Given the description of an element on the screen output the (x, y) to click on. 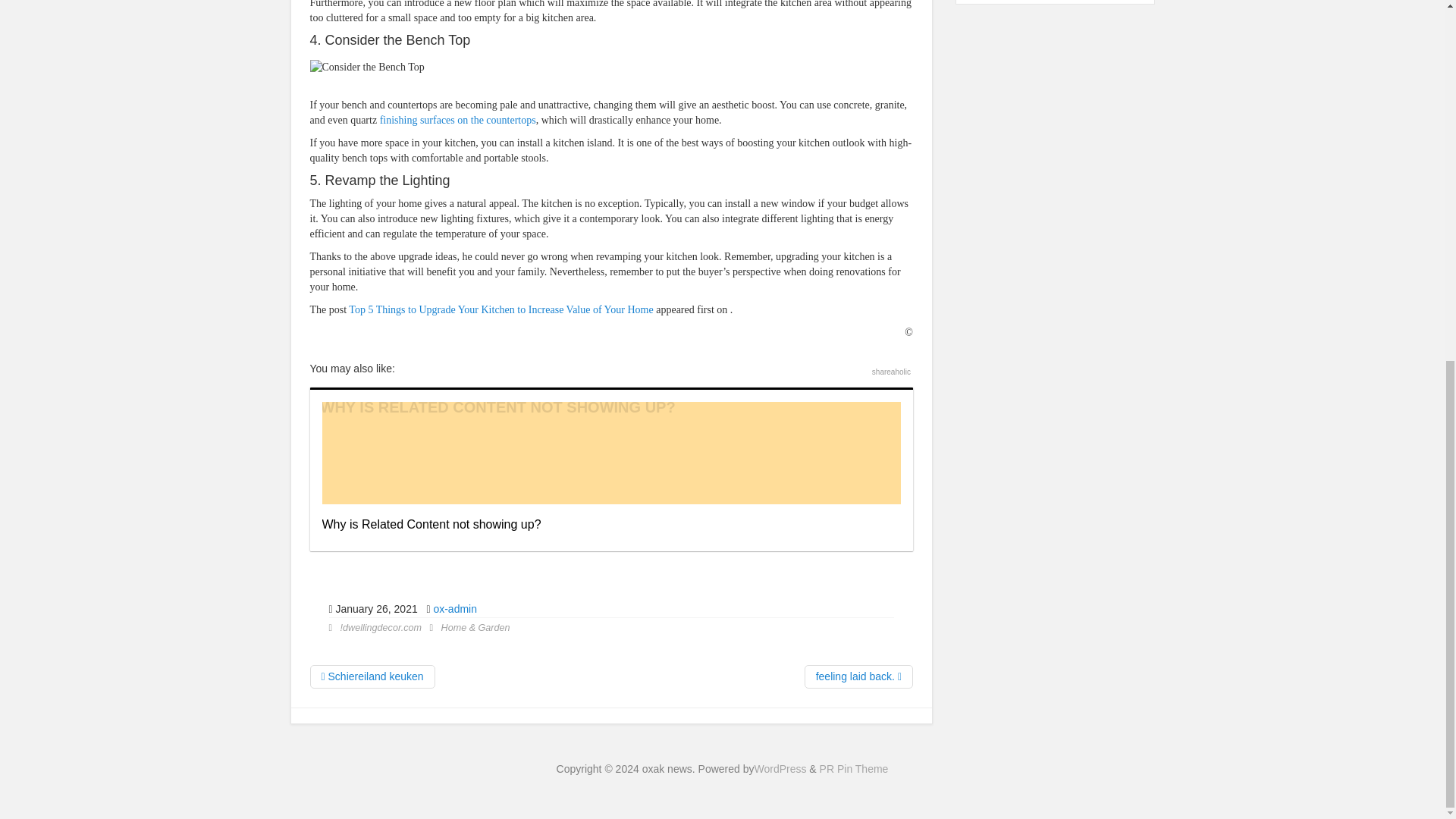
Why is Related Content not showing up? (610, 469)
shareaholic (891, 371)
PR Pin Theme (853, 768)
feeling laid back. (858, 676)
WordPress (780, 768)
WordPress (780, 768)
Schiereiland keuken (370, 676)
ox-admin (454, 608)
Posts by ox-admin (454, 608)
finishing surfaces on the countertops (457, 120)
PR Pin Theme (853, 768)
!dwellingdecor.com (381, 627)
Website Tools by Shareaholic (891, 371)
